Given the description of an element on the screen output the (x, y) to click on. 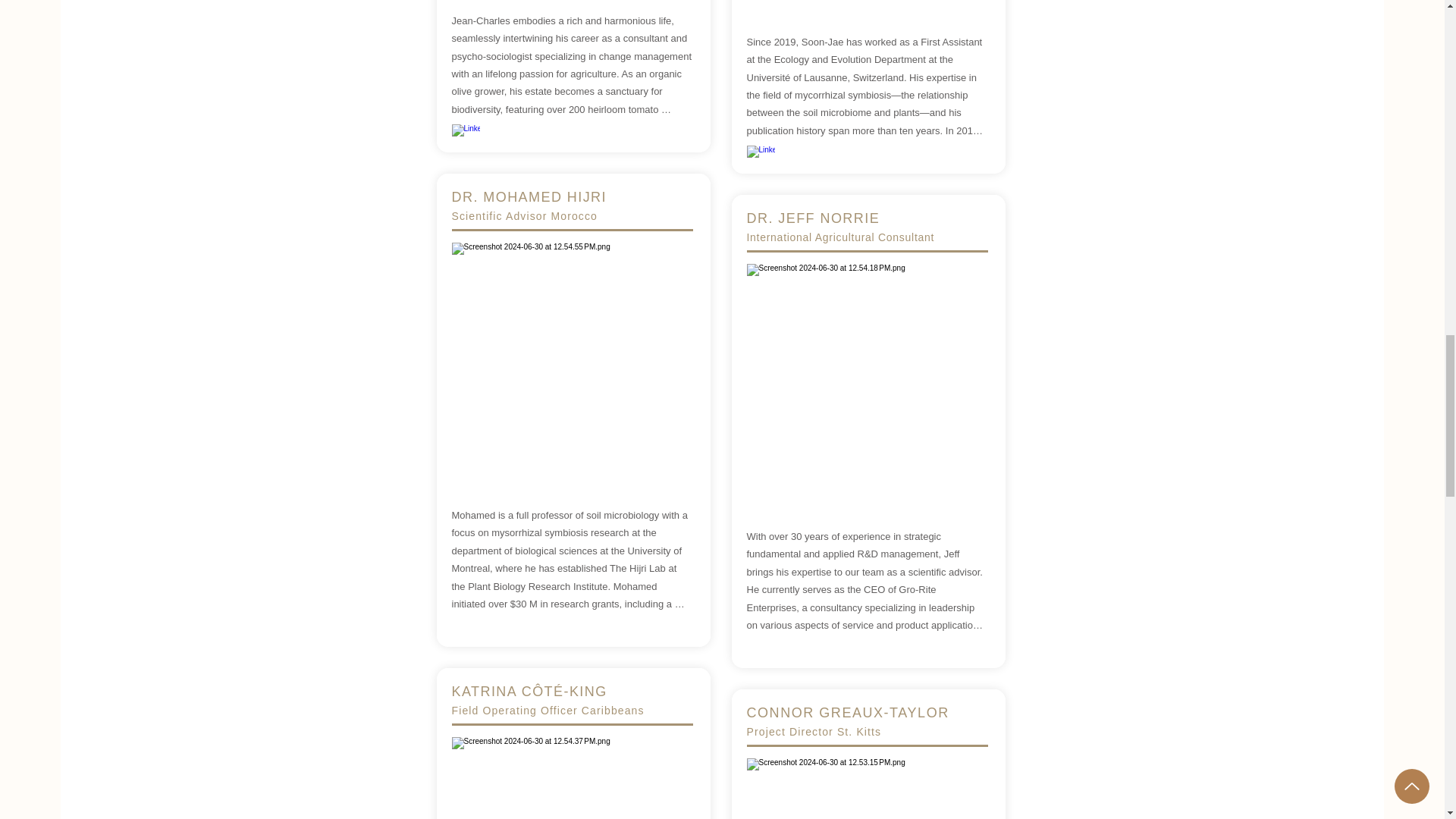
Dr. Soon-Jae Lee (866, 5)
Dr. Mohamed Hijri (572, 363)
Michel Kaine (866, 384)
Connor Greaux-Taylor (866, 788)
